Given the description of an element on the screen output the (x, y) to click on. 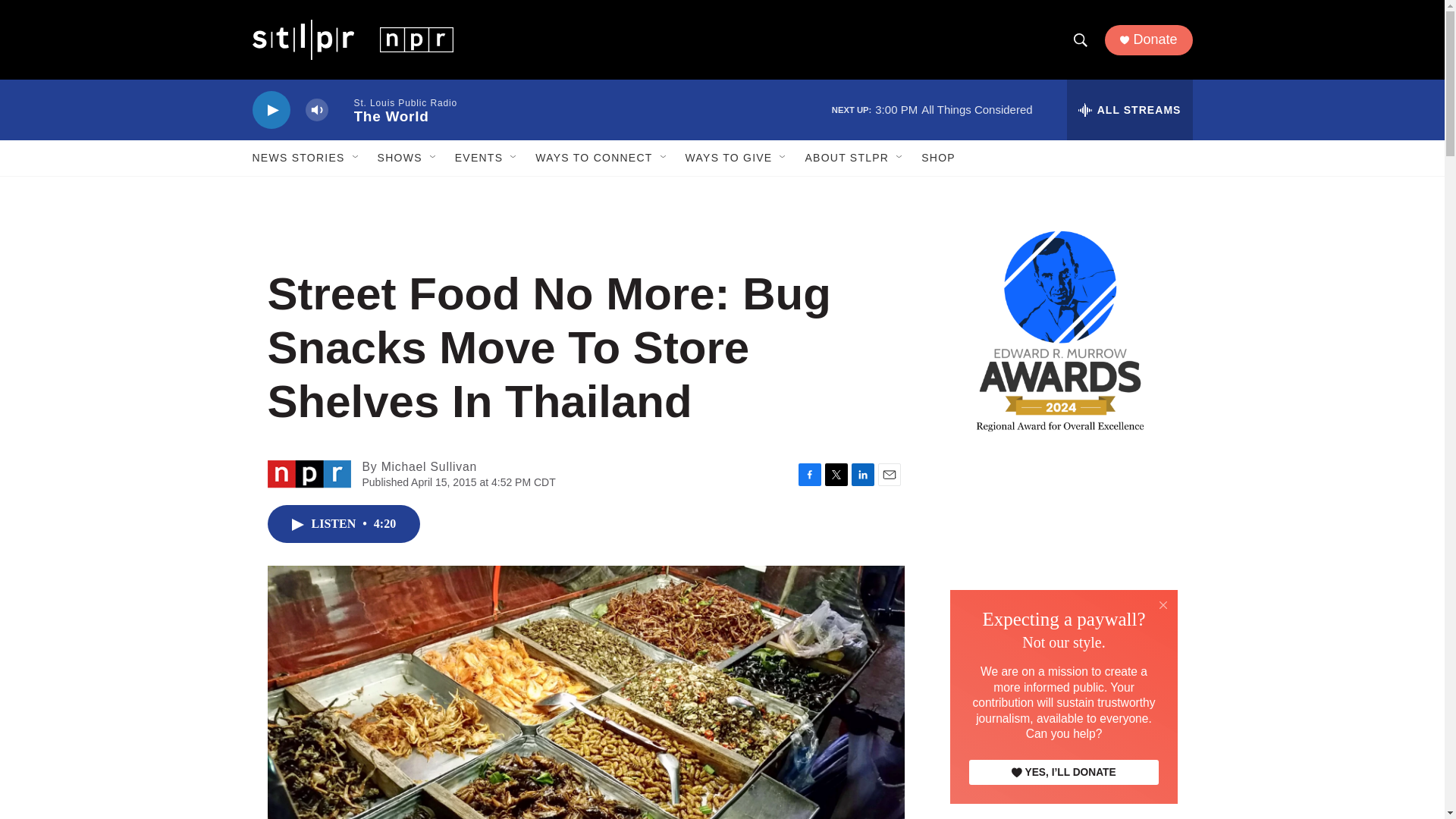
3rd party ad content (1062, 566)
Close (1162, 605)
Close (1162, 604)
